Given the description of an element on the screen output the (x, y) to click on. 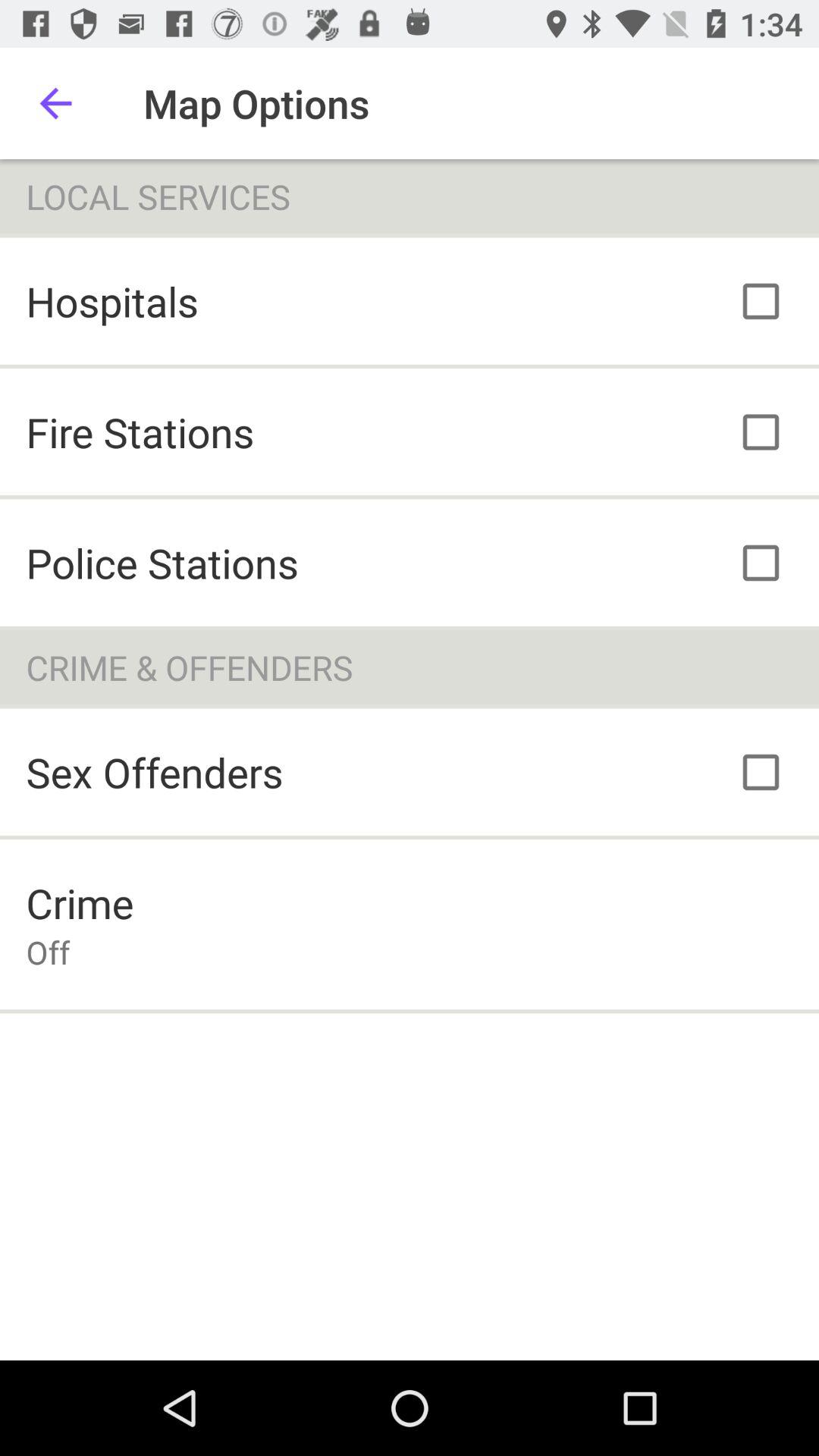
jump until the local services (409, 196)
